Given the description of an element on the screen output the (x, y) to click on. 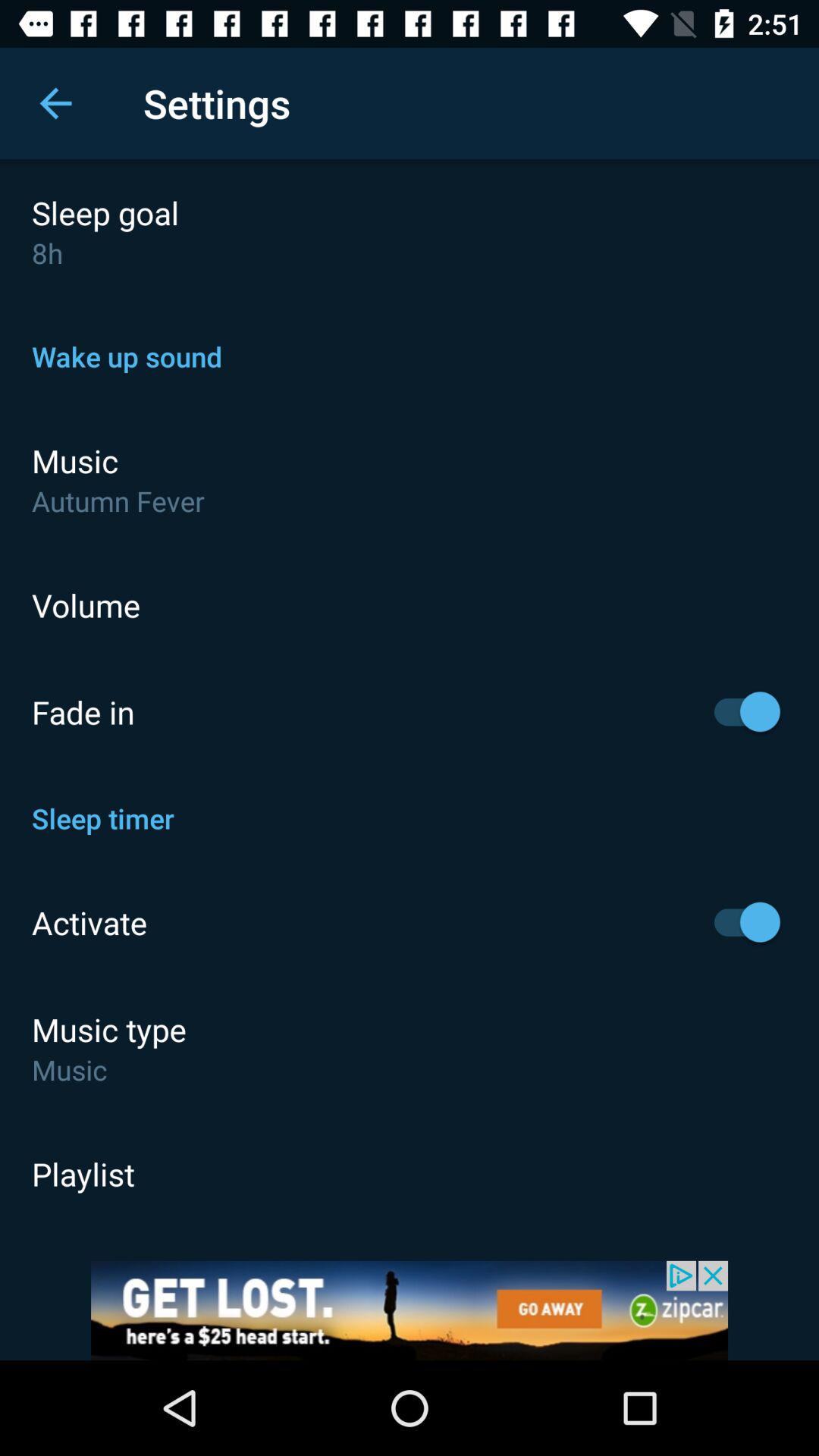
advertisement (409, 1310)
